Given the description of an element on the screen output the (x, y) to click on. 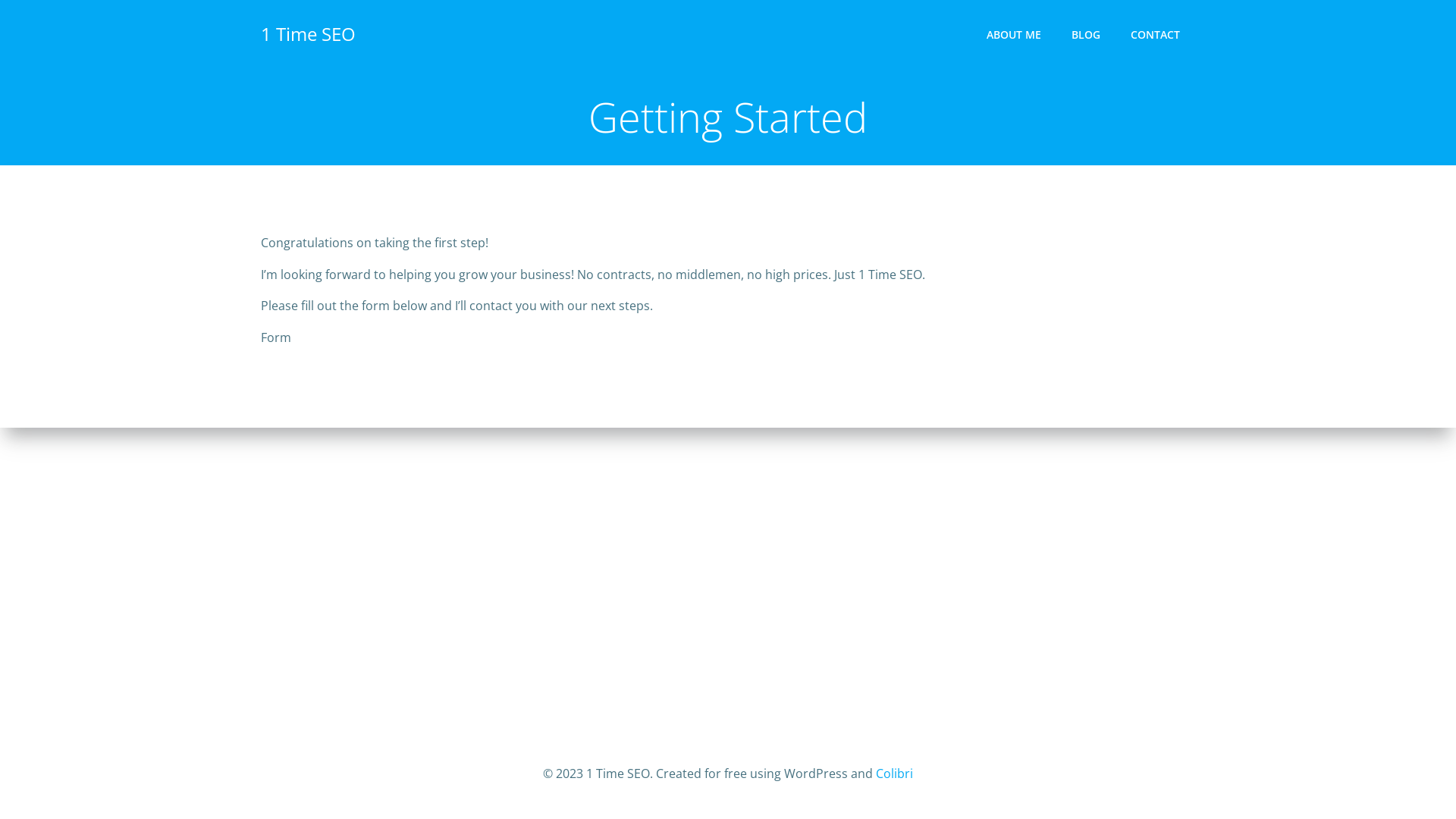
ABOUT ME Element type: text (1013, 33)
CONTACT Element type: text (1154, 33)
BLOG Element type: text (1085, 33)
1 Time SEO Element type: text (307, 33)
Colibri Element type: text (894, 773)
